Given the description of an element on the screen output the (x, y) to click on. 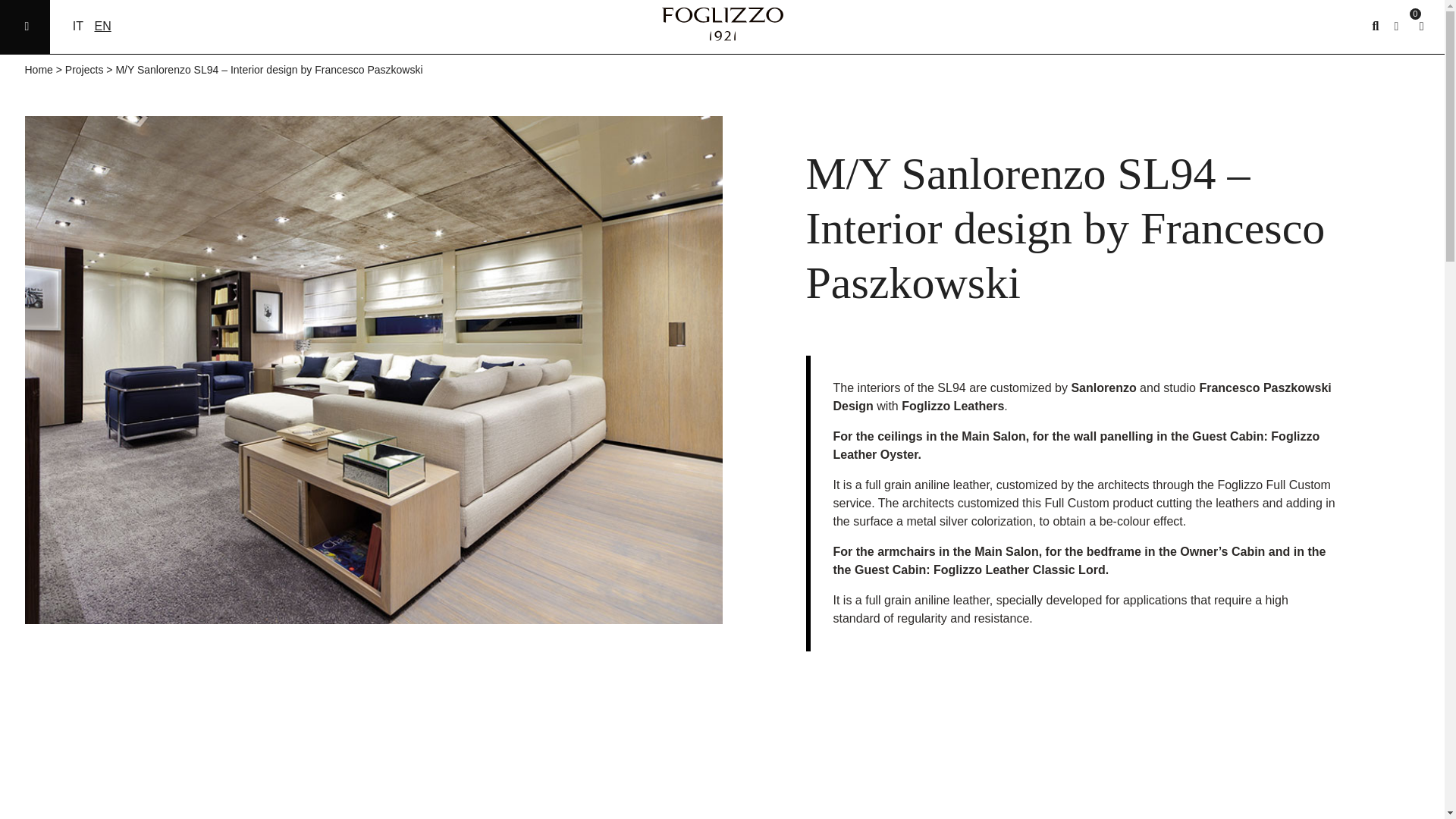
EN (102, 25)
Projects (84, 69)
en (102, 25)
Home (38, 69)
